Given the description of an element on the screen output the (x, y) to click on. 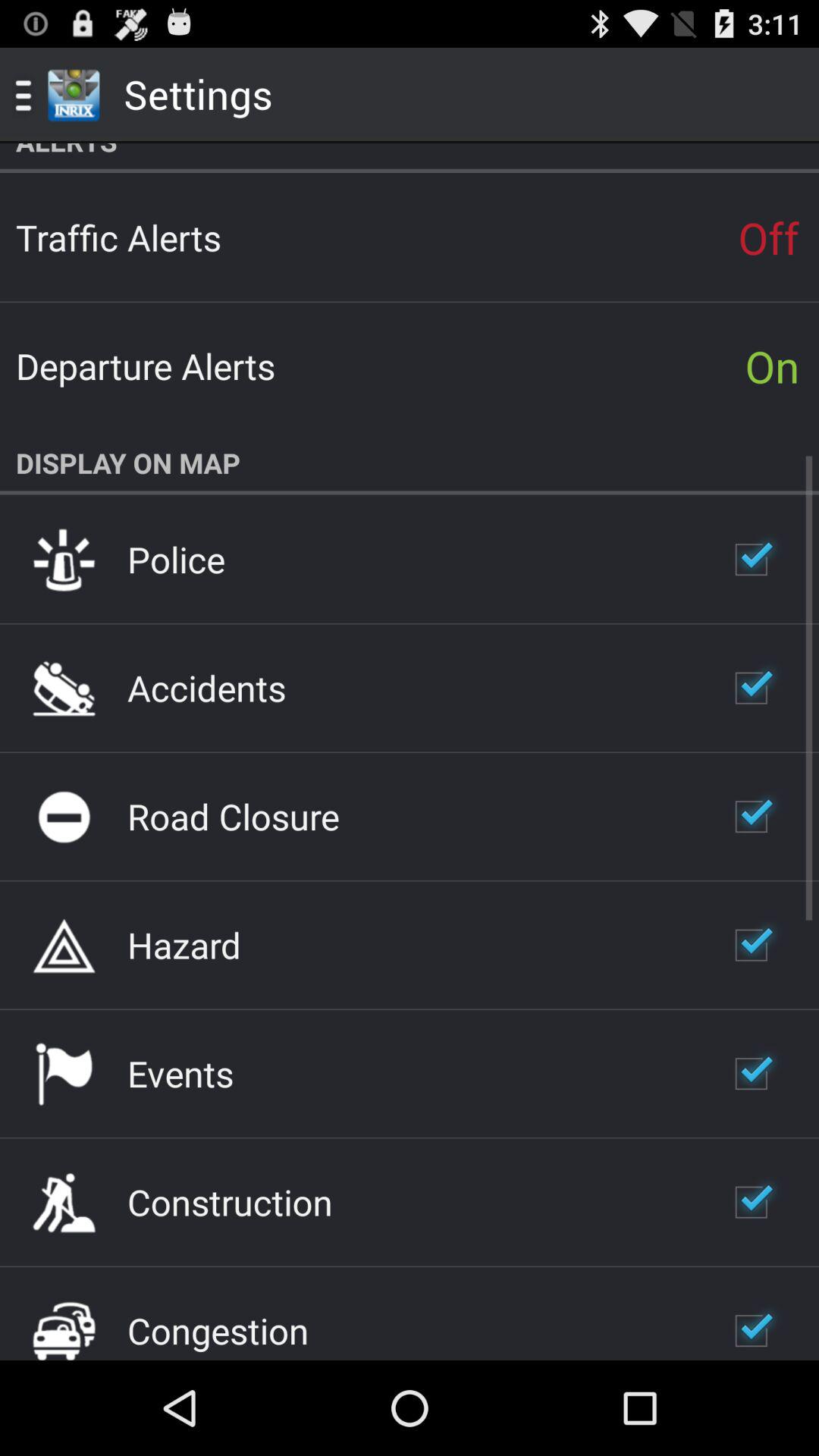
select app above on item (768, 237)
